Given the description of an element on the screen output the (x, y) to click on. 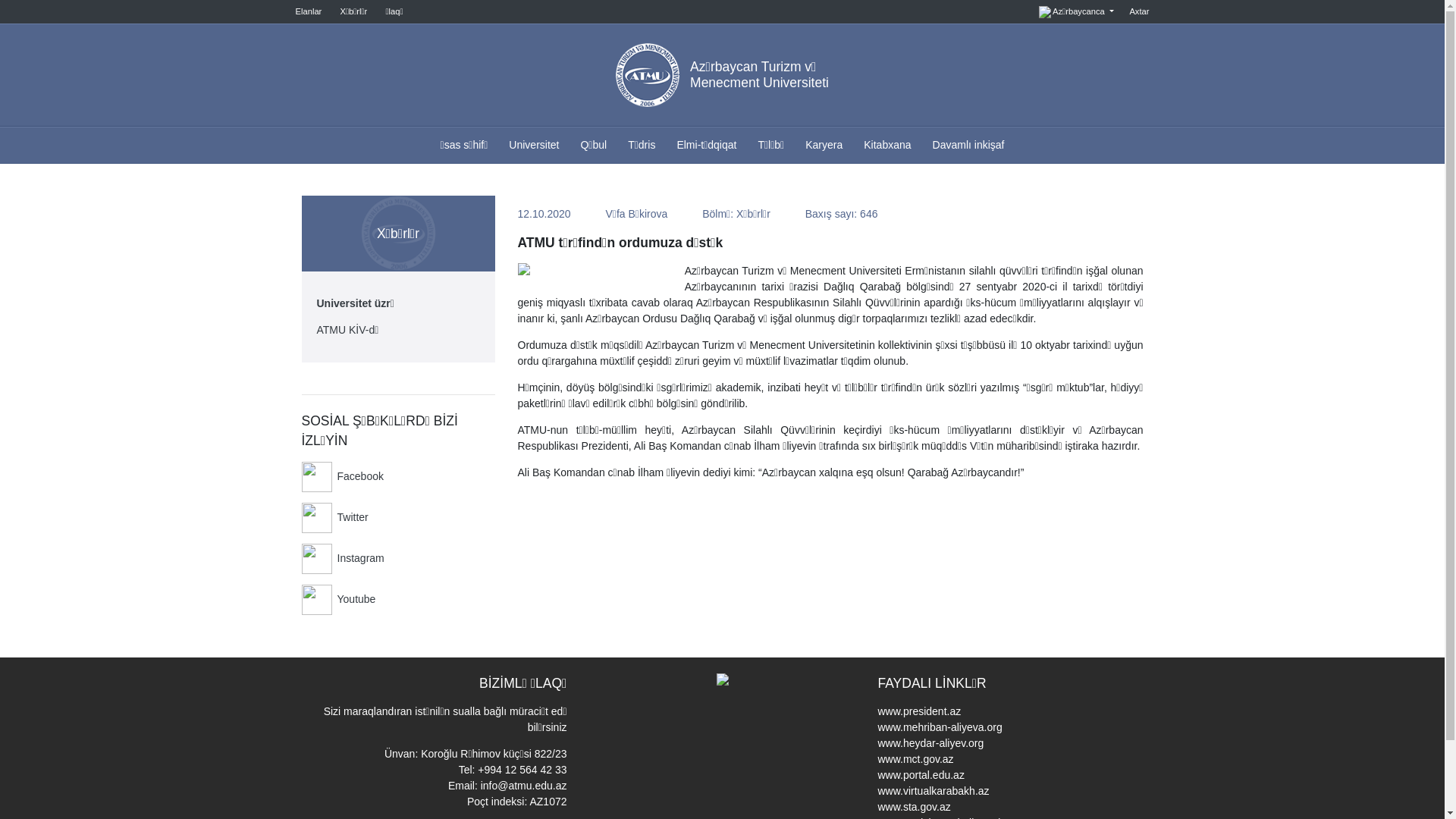
www.heydar-aliyev.org Element type: text (931, 743)
www.virtualkarabakh.az Element type: text (933, 790)
www.mehriban-aliyeva.org Element type: text (940, 727)
Axtar Element type: text (1137, 10)
Elanlar Element type: text (309, 10)
www.mct.gov.az Element type: text (915, 759)
www.sta.gov.az Element type: text (914, 806)
Kitabxana Element type: text (887, 144)
Instagram Element type: text (398, 558)
Twitter Element type: text (398, 517)
Karyera Element type: text (823, 144)
Universitet Element type: text (533, 144)
Facebook Element type: text (398, 476)
www.president.az Element type: text (919, 711)
Youtube Element type: text (398, 599)
www.portal.edu.az Element type: text (921, 774)
